Given the description of an element on the screen output the (x, y) to click on. 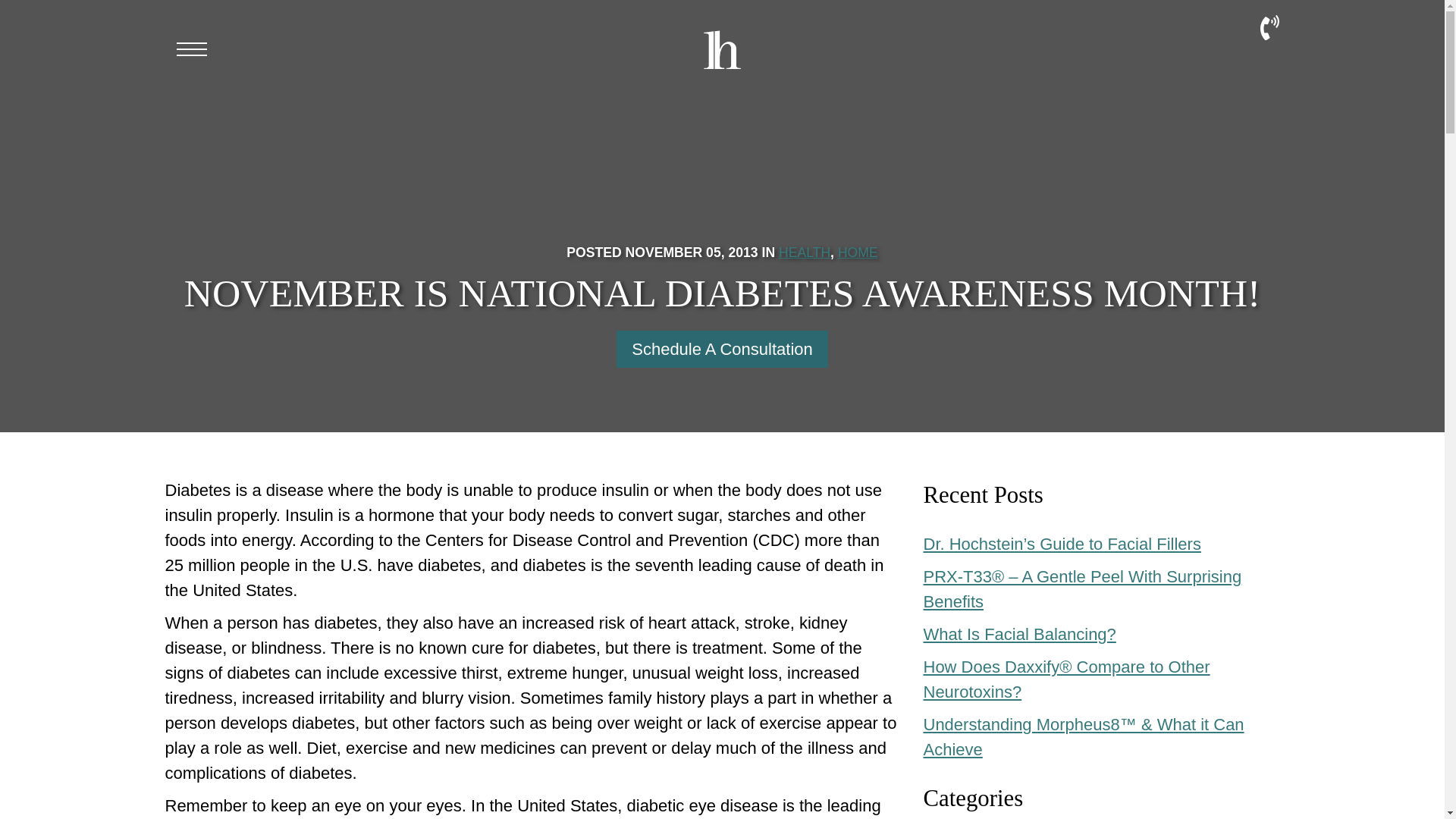
Leonard Hochstein MD (721, 63)
